Given the description of an element on the screen output the (x, y) to click on. 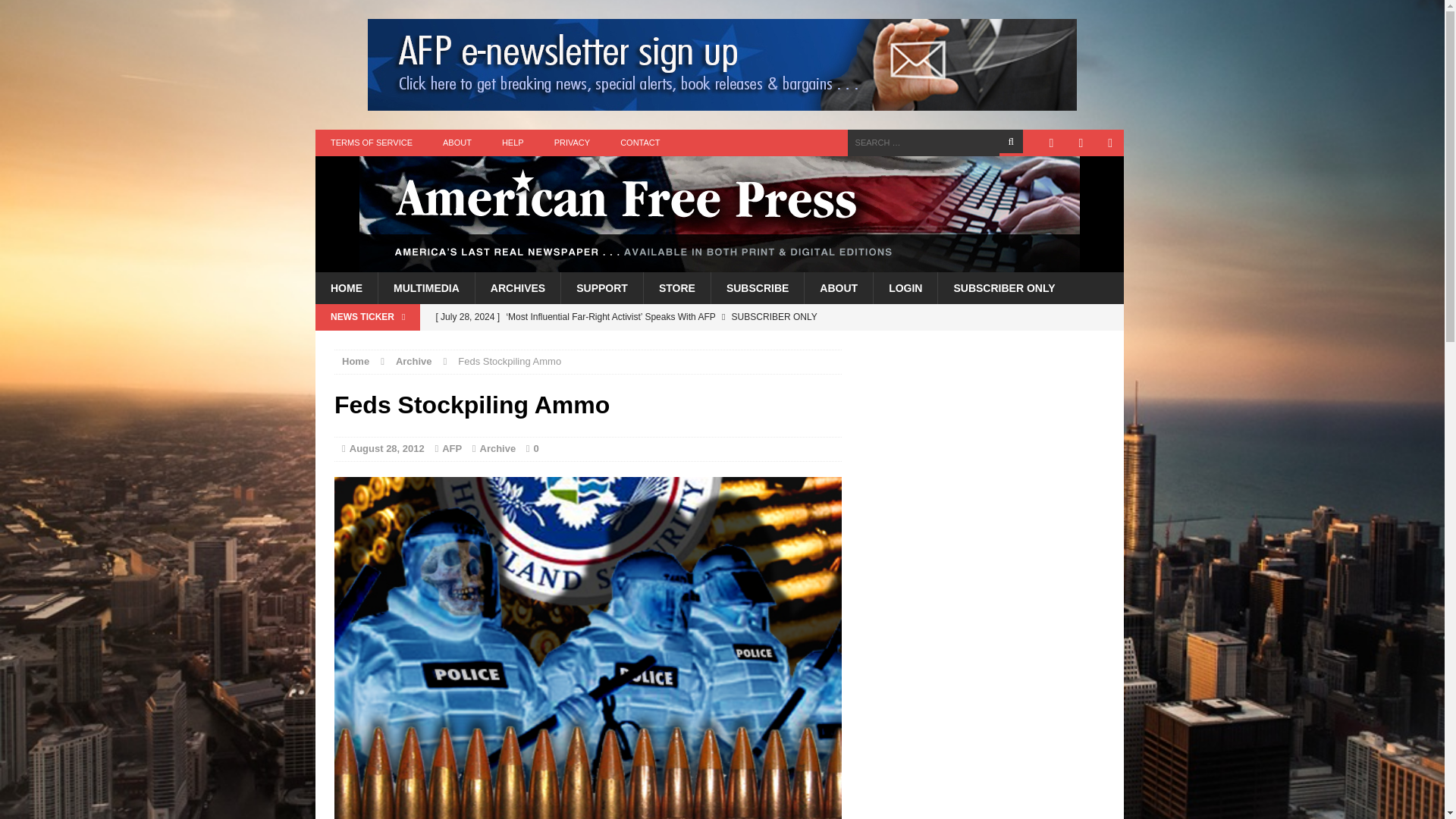
Will Republicans Turn the Lawfare Tables on Dems? (633, 342)
SUBSCRIBE (756, 287)
HOME (346, 287)
Archive (497, 448)
TERMS OF SERVICE (371, 142)
ABOUT (457, 142)
HELP (512, 142)
LOGIN (904, 287)
MULTIMEDIA (425, 287)
STORE (676, 287)
PRIVACY (571, 142)
ABOUT (837, 287)
Archive (414, 360)
SUBSCRIBER ONLY (1003, 287)
